Given the description of an element on the screen output the (x, y) to click on. 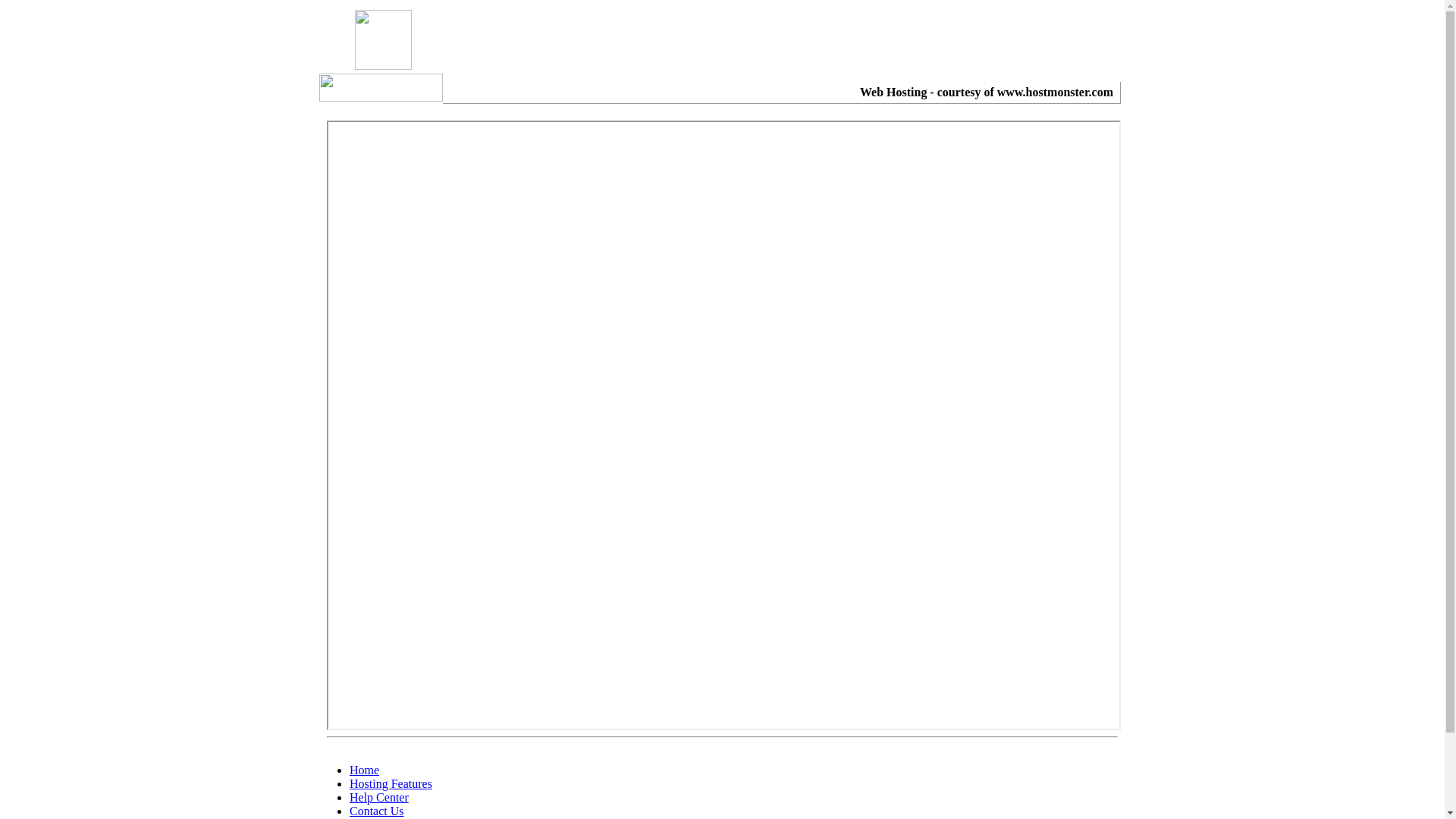
Hosting Features Element type: text (390, 783)
Web Hosting - courtesy of www.hostmonster.com Element type: text (986, 91)
Contact Us Element type: text (376, 810)
Help Center Element type: text (378, 796)
Home Element type: text (364, 769)
